Given the description of an element on the screen output the (x, y) to click on. 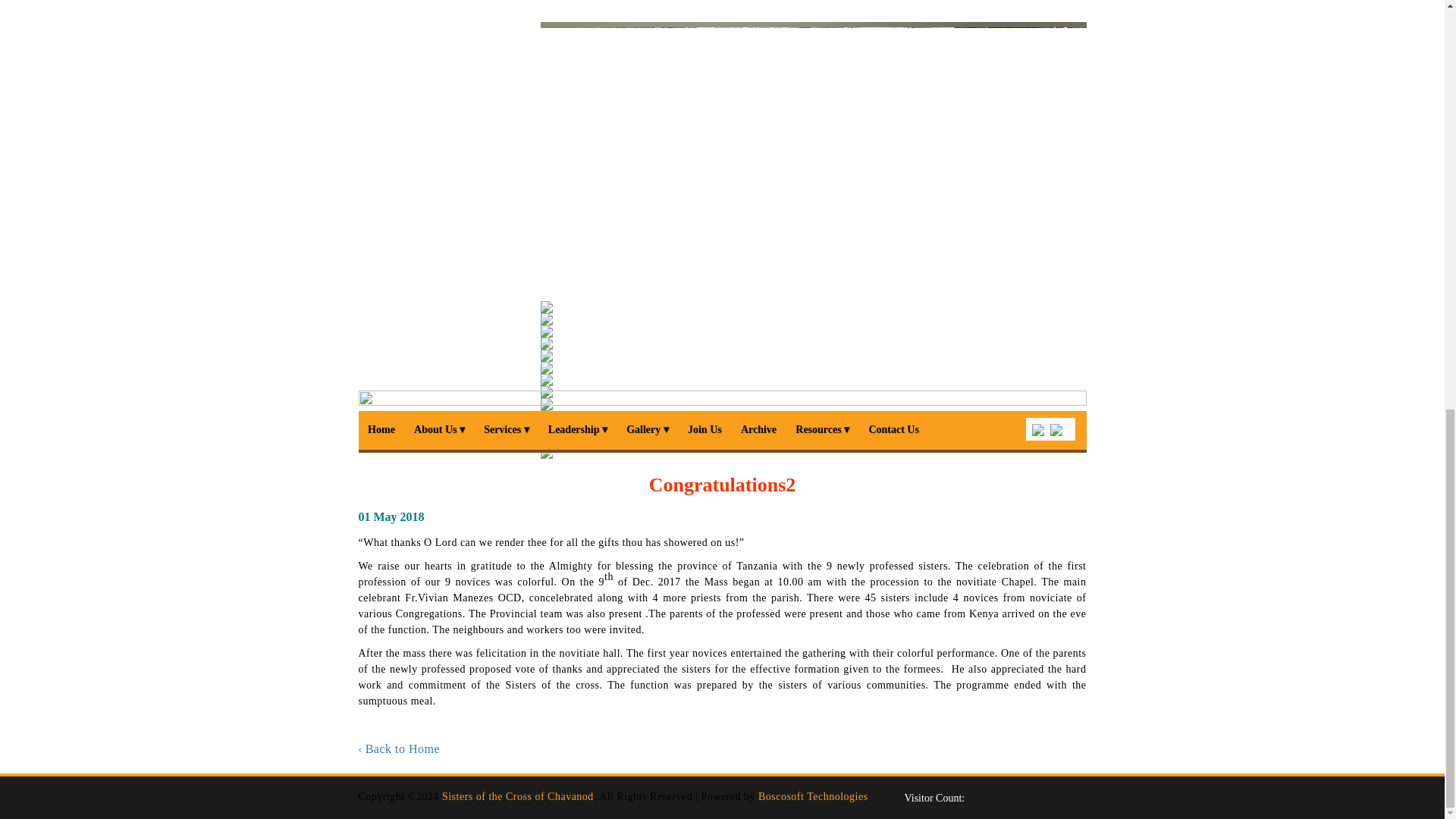
Archive (758, 429)
English (1034, 426)
Join Us (704, 429)
English (1052, 426)
Home (381, 429)
